Given the description of an element on the screen output the (x, y) to click on. 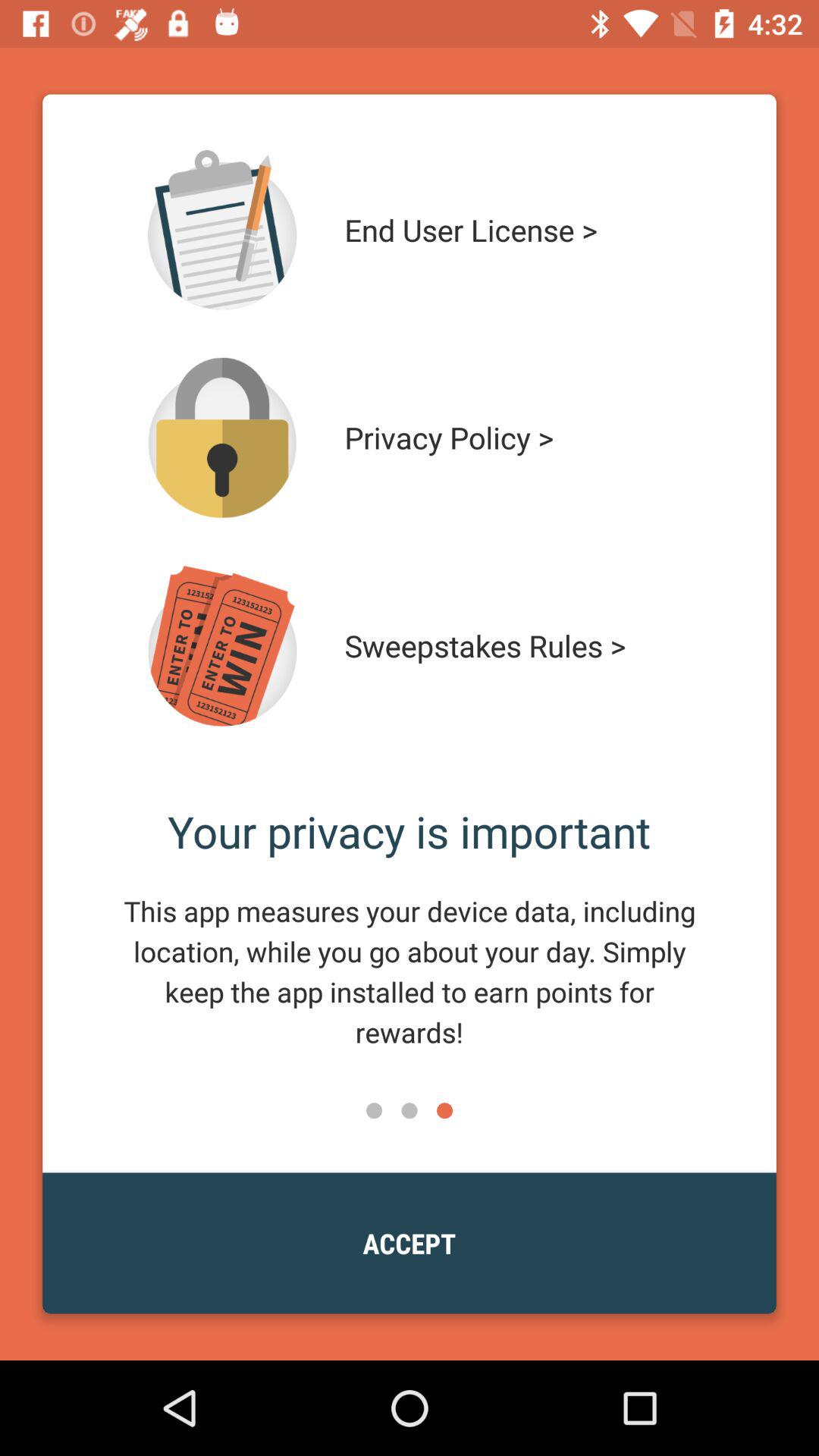
see license (222, 229)
